Given the description of an element on the screen output the (x, y) to click on. 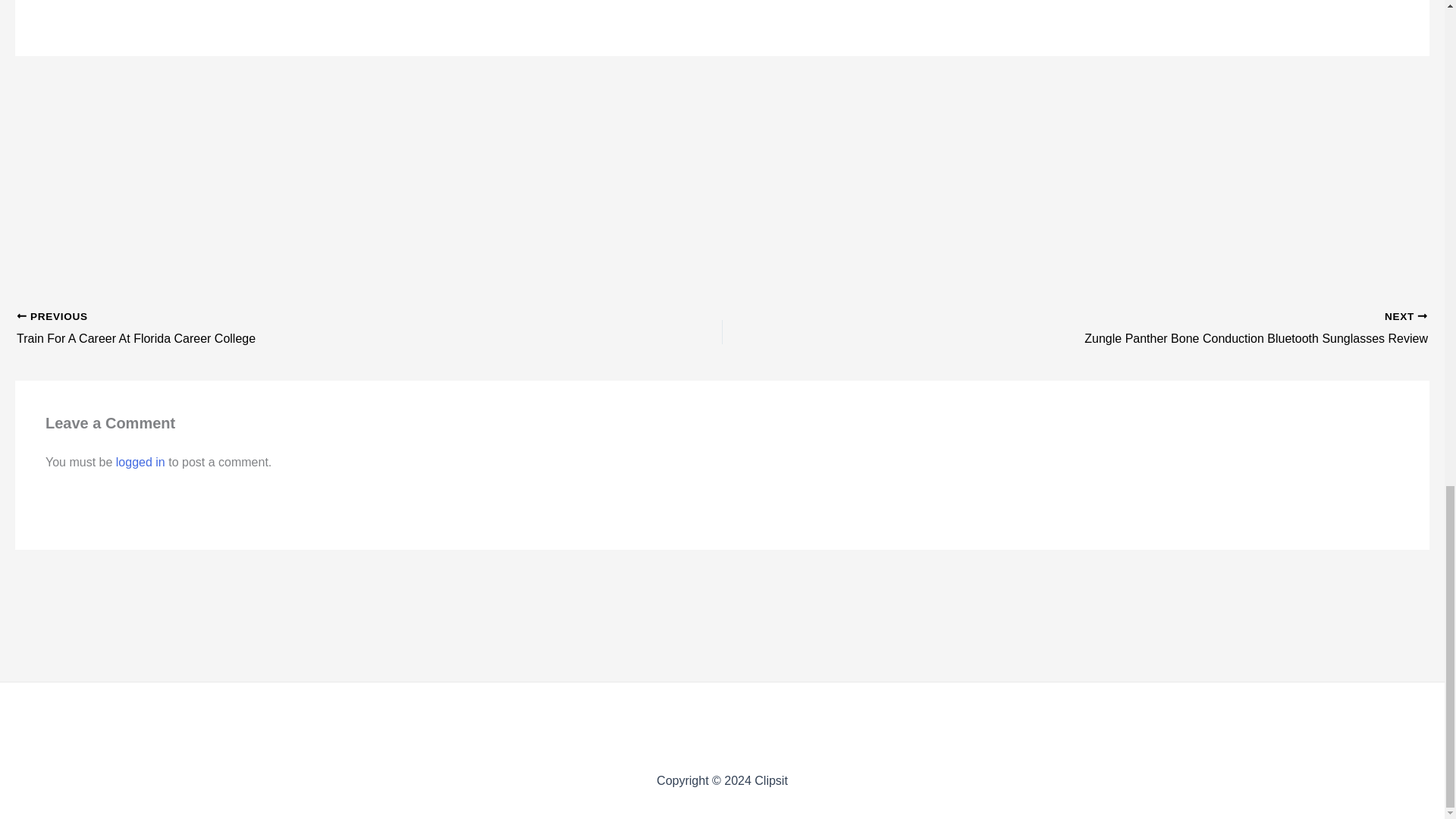
Advertisement (721, 640)
logged in (299, 328)
Zungle Panther Bone Conduction Bluetooth Sunglasses Review (140, 461)
Train For A Career At Florida Career College (1144, 328)
Advertisement (299, 328)
Advertisement (721, 728)
